Given the description of an element on the screen output the (x, y) to click on. 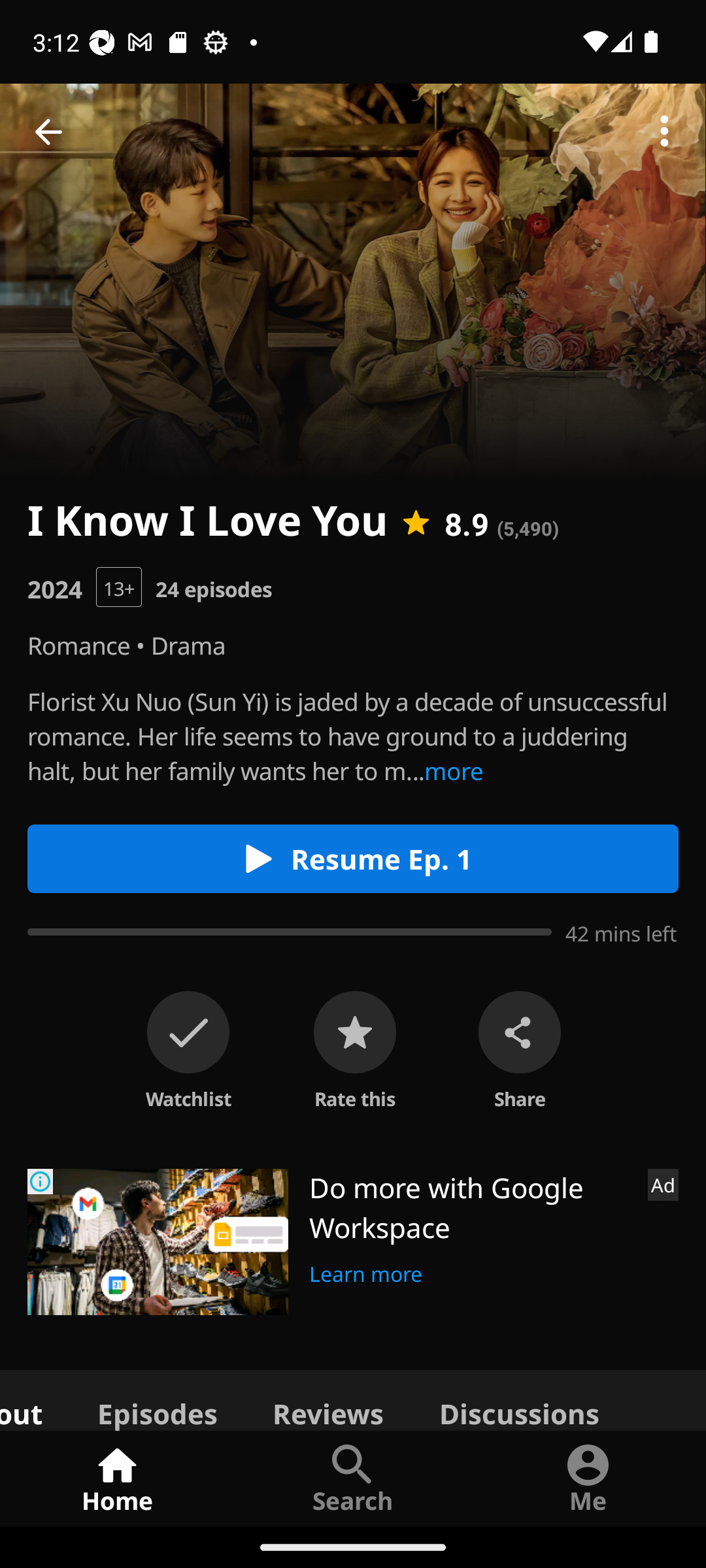
More (664, 131)
on (187, 1032)
Ad Choices Icon (39, 1181)
Do more with Google Workspace (471, 1207)
Learn more (365, 1271)
Episodes (156, 1400)
Reviews (327, 1400)
Discussions (518, 1400)
Search (352, 1478)
Me (588, 1478)
